Given the description of an element on the screen output the (x, y) to click on. 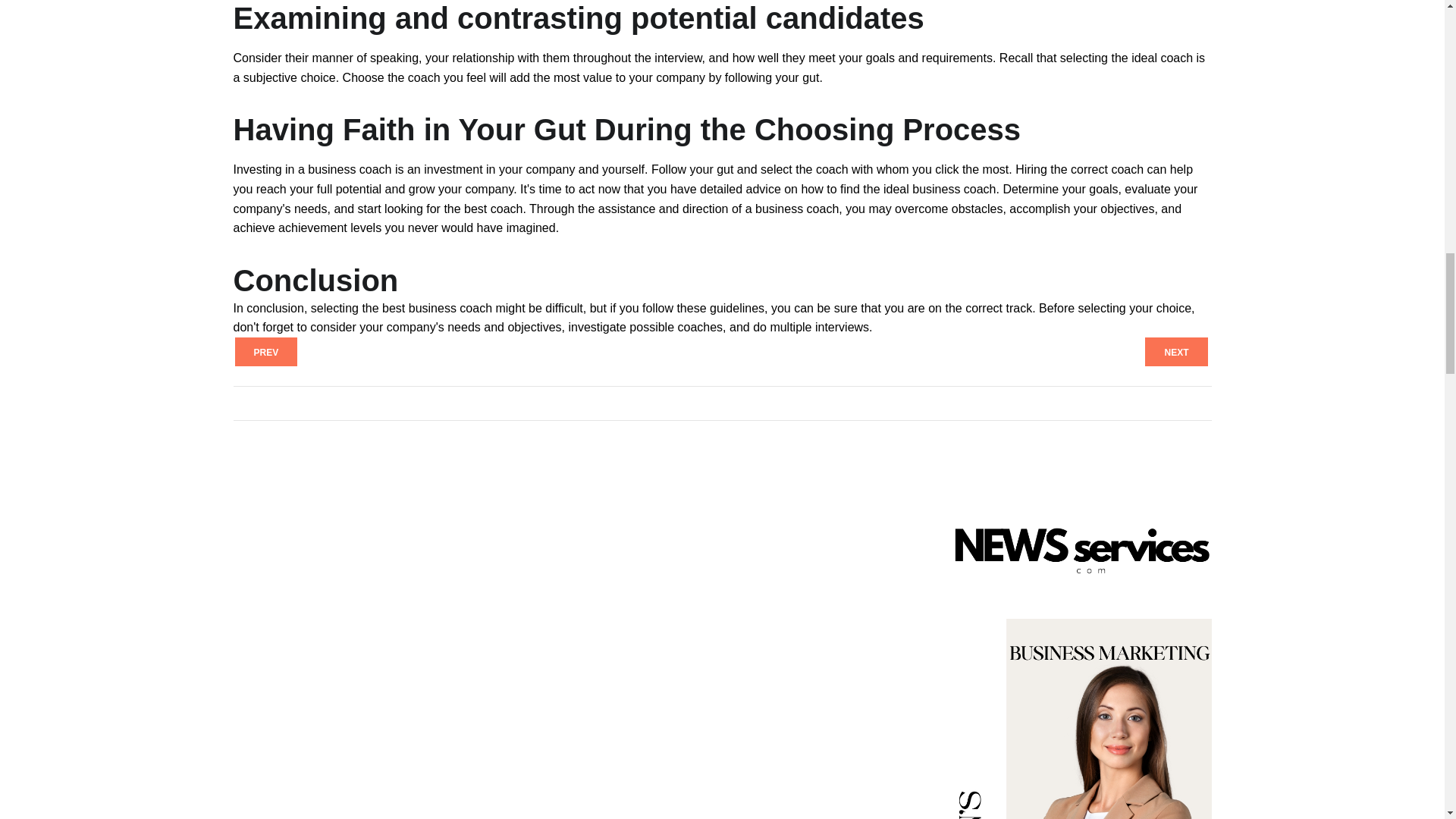
NEXT (1175, 351)
PREV (266, 351)
